Given the description of an element on the screen output the (x, y) to click on. 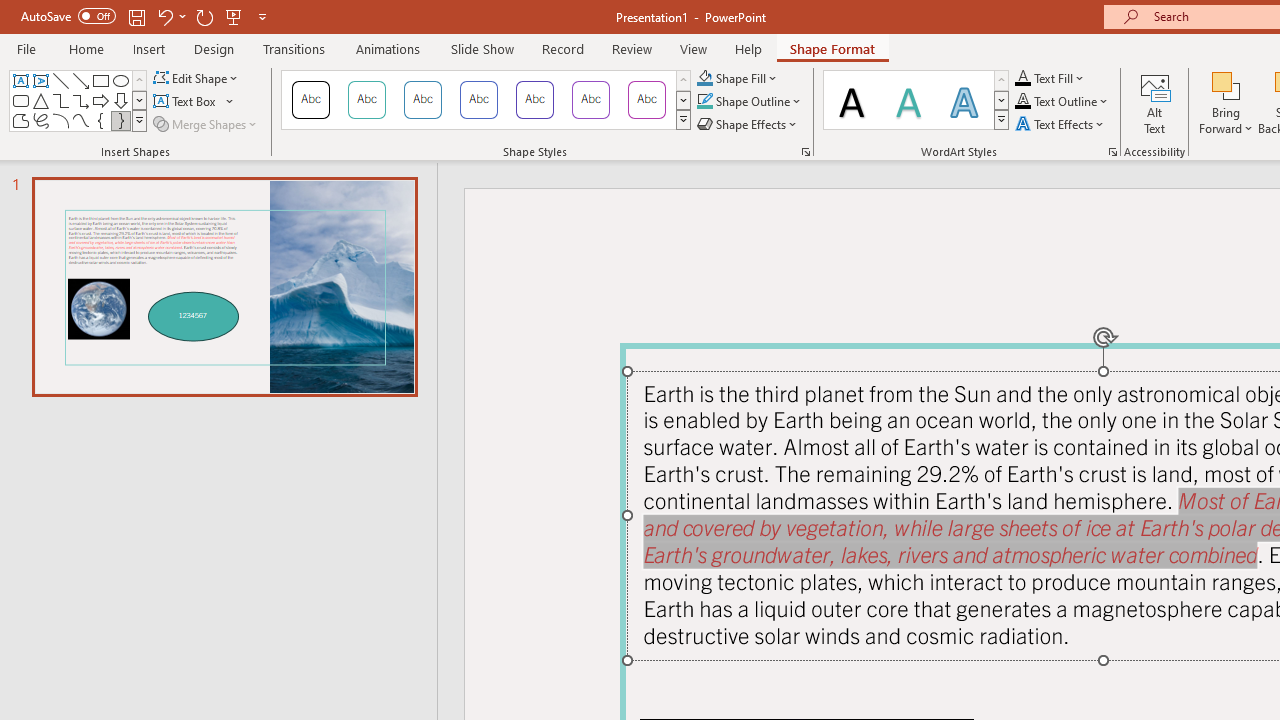
Fill: Black, Text color 1; Shadow (852, 100)
AutoSave (68, 16)
Shapes (139, 120)
Arrow: Down (120, 100)
Review (631, 48)
Curve (80, 120)
Vertical Text Box (40, 80)
Connector: Elbow (60, 100)
File Tab (26, 48)
Undo (164, 15)
Edit Shape (196, 78)
Text Fill (1050, 78)
Isosceles Triangle (40, 100)
Right Brace (120, 120)
Record (562, 48)
